Given the description of an element on the screen output the (x, y) to click on. 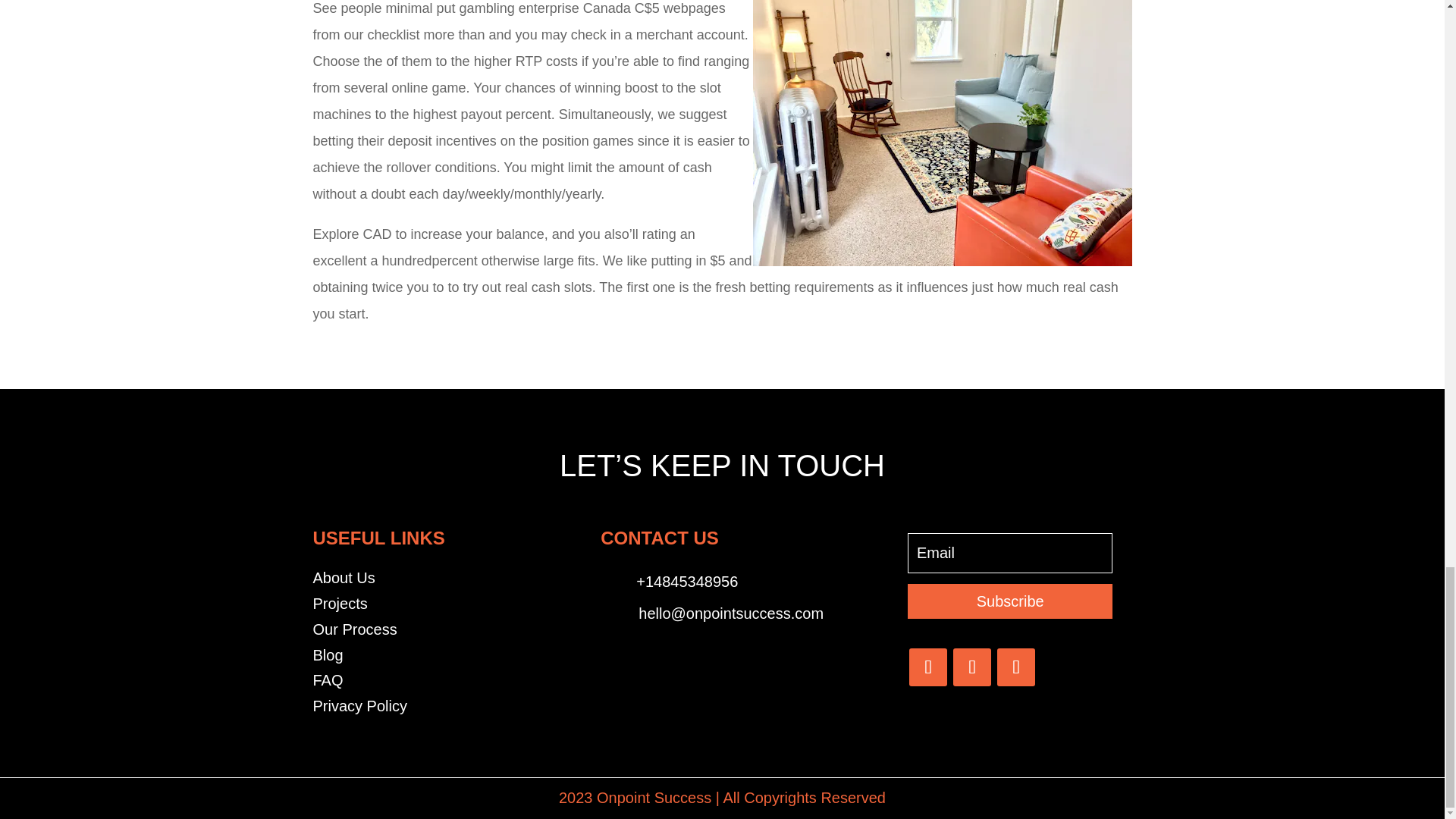
Follow on Facebook (927, 667)
Follow on Instagram (1016, 667)
Subscribe (1009, 601)
Follow on Twitter (972, 667)
